Given the description of an element on the screen output the (x, y) to click on. 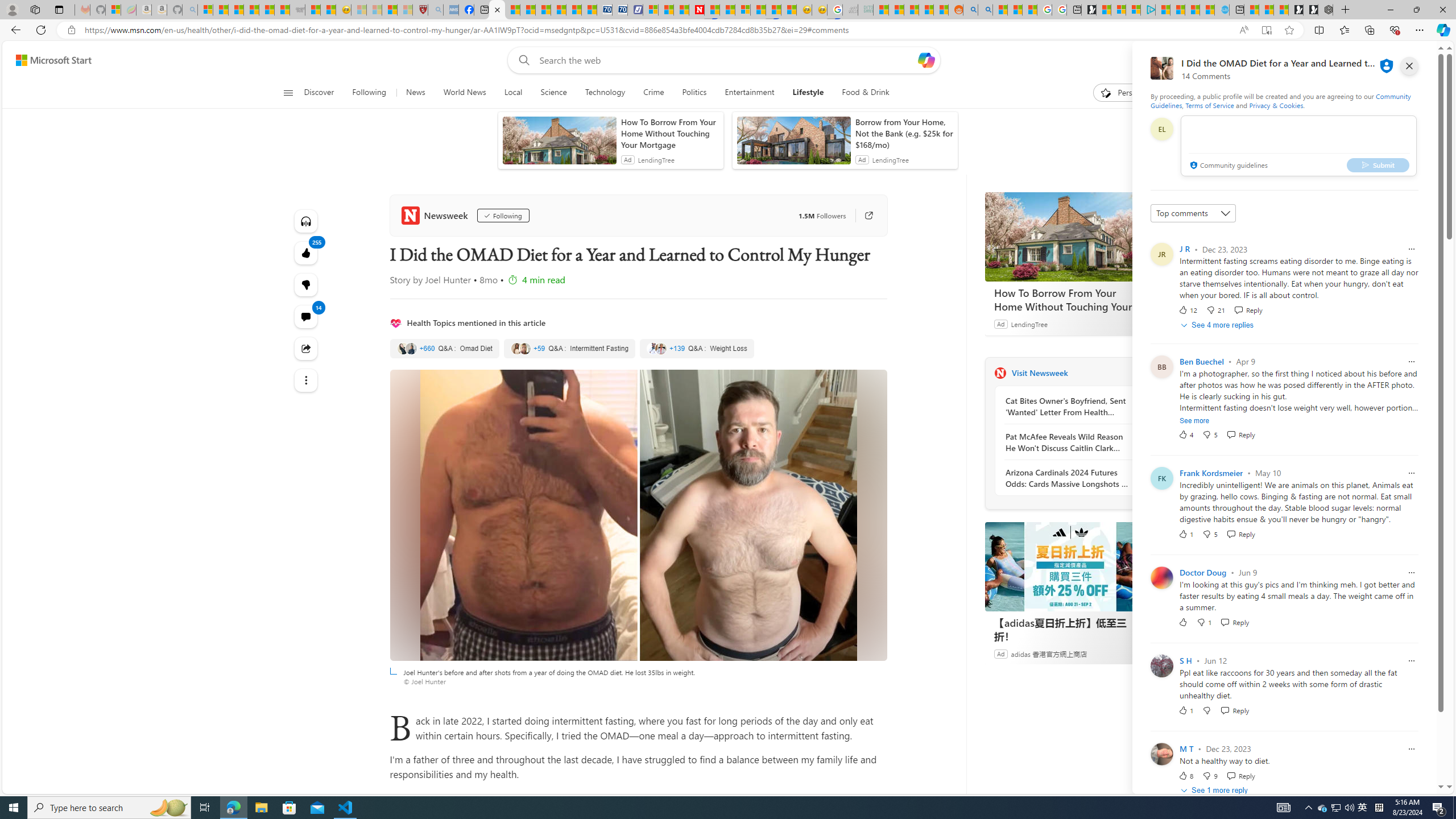
8 Like (1185, 775)
View comments 14 Comment (305, 316)
12 Like (1187, 309)
